Given the description of an element on the screen output the (x, y) to click on. 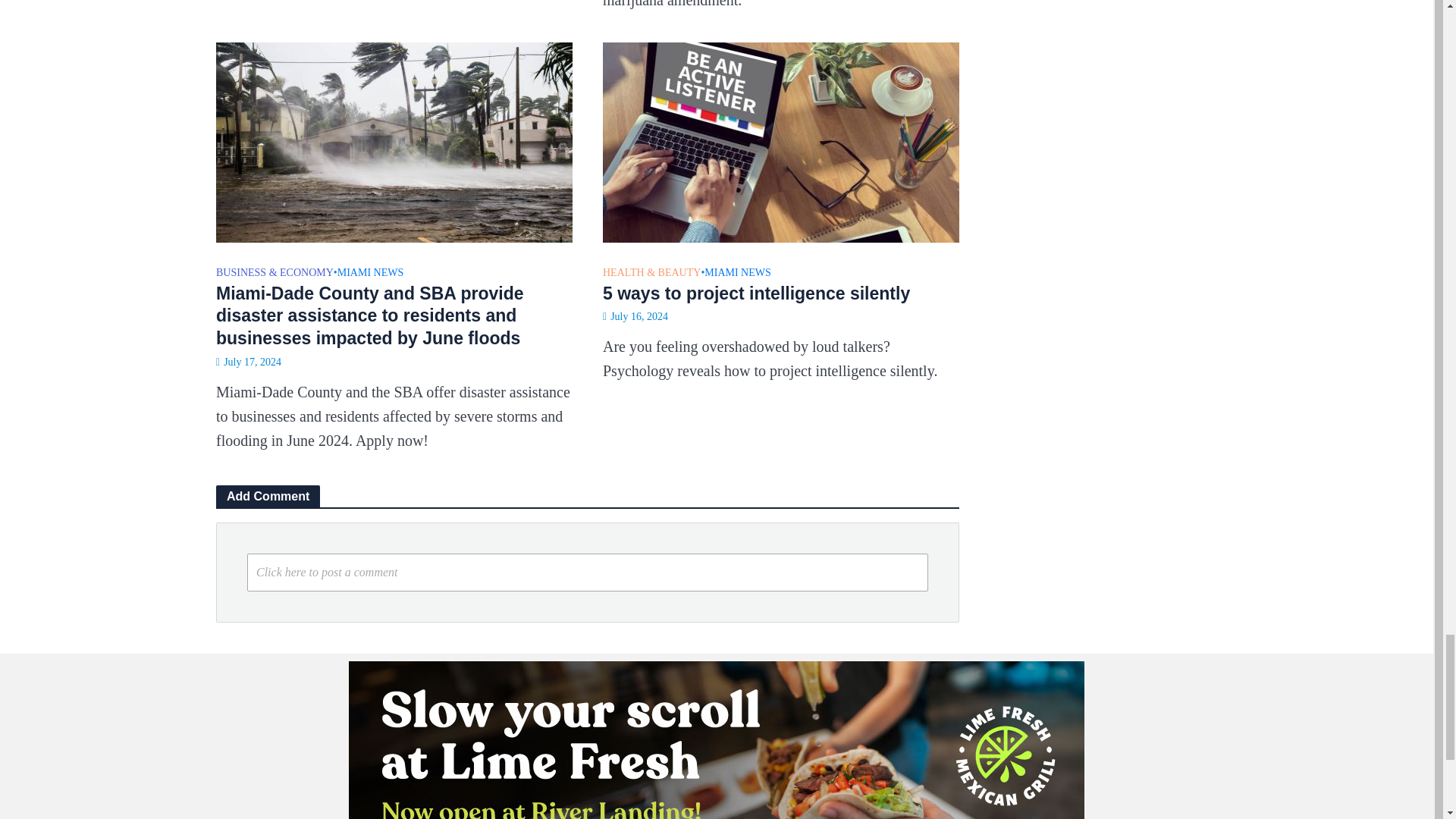
5 ways to project intelligence silently (780, 139)
